Given the description of an element on the screen output the (x, y) to click on. 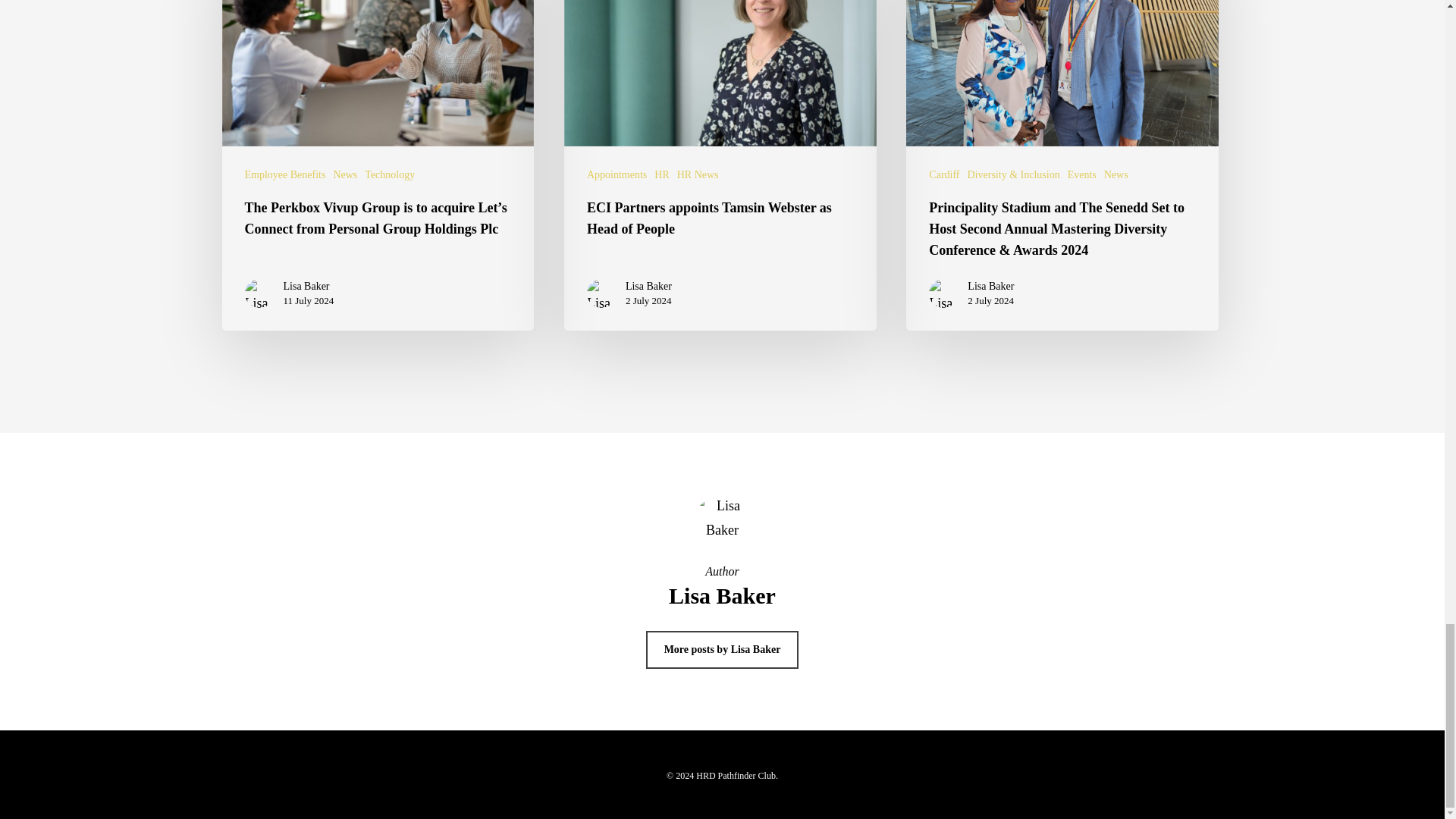
Appointments (616, 174)
News (344, 174)
Employee Benefits (284, 174)
HR News (698, 174)
HR (660, 174)
Lisa Baker (308, 286)
Technology (389, 174)
